Given the description of an element on the screen output the (x, y) to click on. 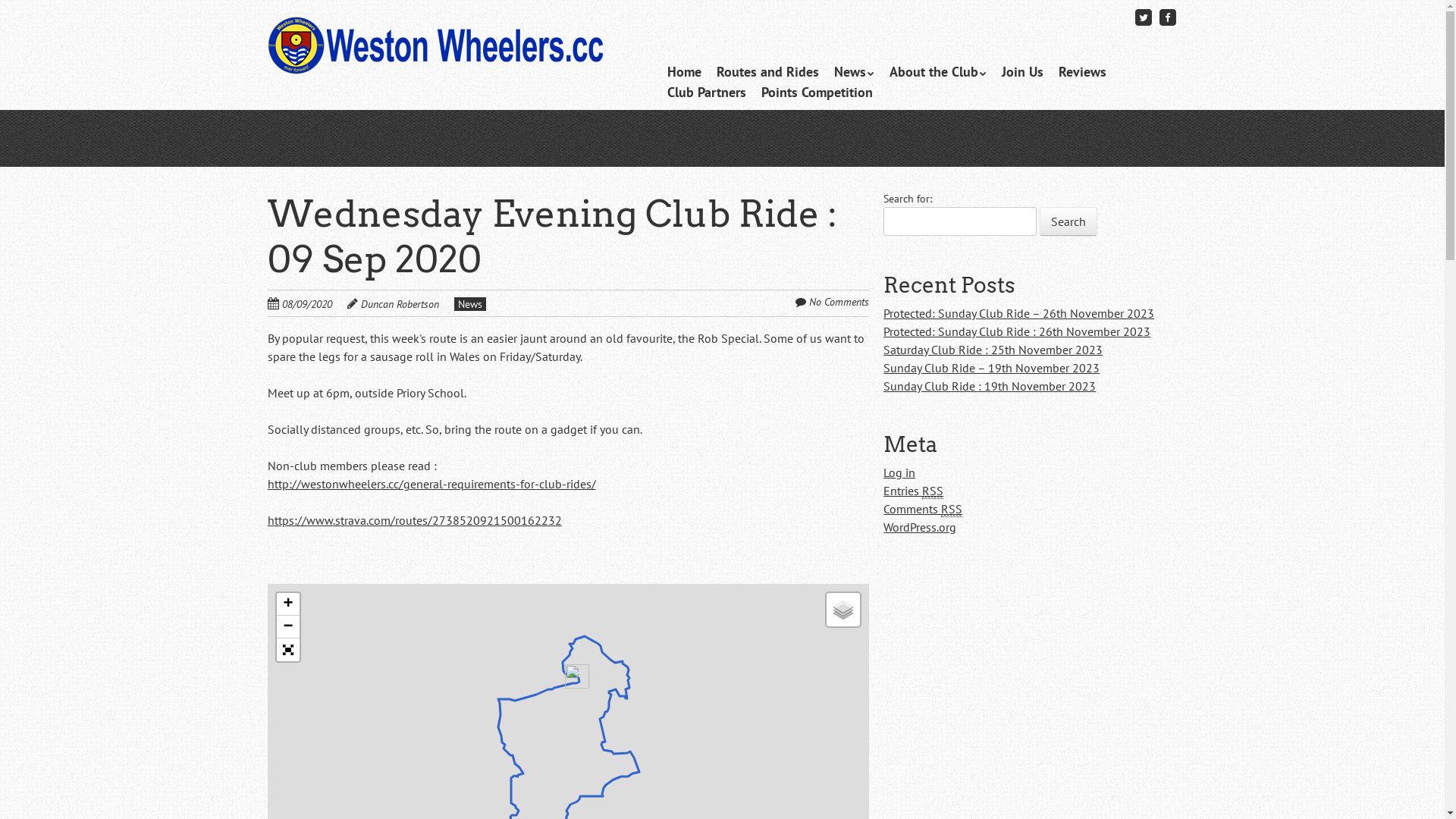
Follow me on Twitter Element type: hover (1143, 16)
Protected: Sunday Club Ride : 26th November 2023 Element type: text (1016, 330)
Join Us Element type: text (1022, 71)
Saturday Club Ride : 25th November 2023 Element type: text (992, 349)
Layers Element type: hover (842, 609)
Club Partners Element type: text (706, 91)
Points Competition Element type: text (816, 91)
Entries RSS Element type: text (913, 490)
Sunday Club Ride : 19th November 2023 Element type: text (989, 385)
Reviews Element type: text (1082, 71)
Search Element type: text (1068, 221)
Home Element type: text (684, 71)
+ Element type: text (287, 604)
Full Screen Element type: hover (287, 649)
Log in Element type: text (899, 472)
Weston Wheelers Cycling Club Element type: hover (434, 45)
No Comments Element type: text (839, 301)
08/09/2020 Element type: text (314, 302)
Routes and Rides Element type: text (767, 71)
https://www.strava.com/routes/2738520921500162232 Element type: text (413, 519)
Skip to content Element type: text (691, 70)
Comments RSS Element type: text (922, 509)
Friend me on Facebook Element type: hover (1167, 16)
About the Club Element type: text (937, 71)
News Element type: text (854, 71)
Duncan Robertson Element type: text (399, 303)
News Element type: text (469, 303)
WordPress.org Element type: text (919, 526)
